Given the description of an element on the screen output the (x, y) to click on. 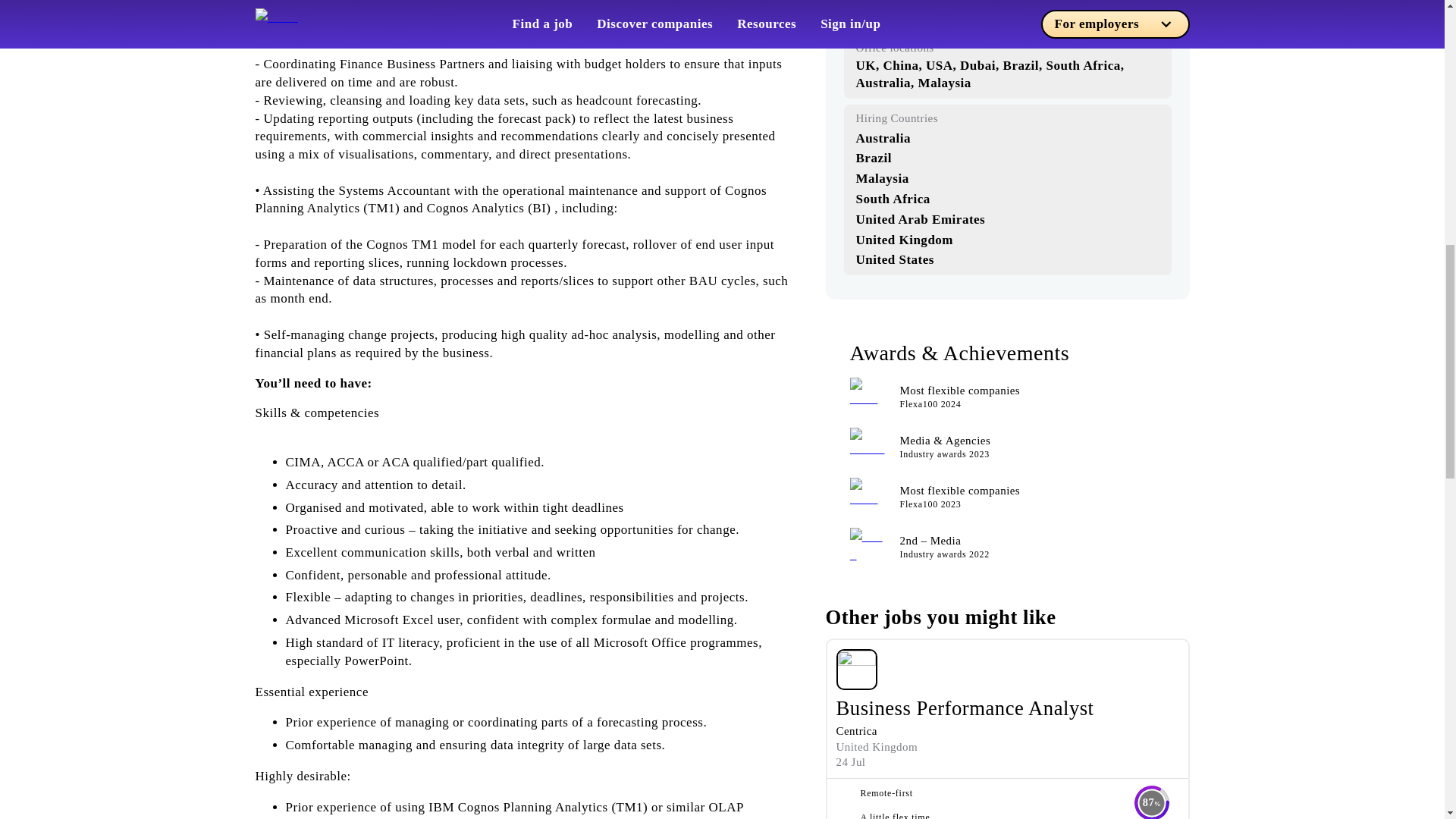
Centrica (855, 730)
Business Performance Analyst (964, 707)
